Given the description of an element on the screen output the (x, y) to click on. 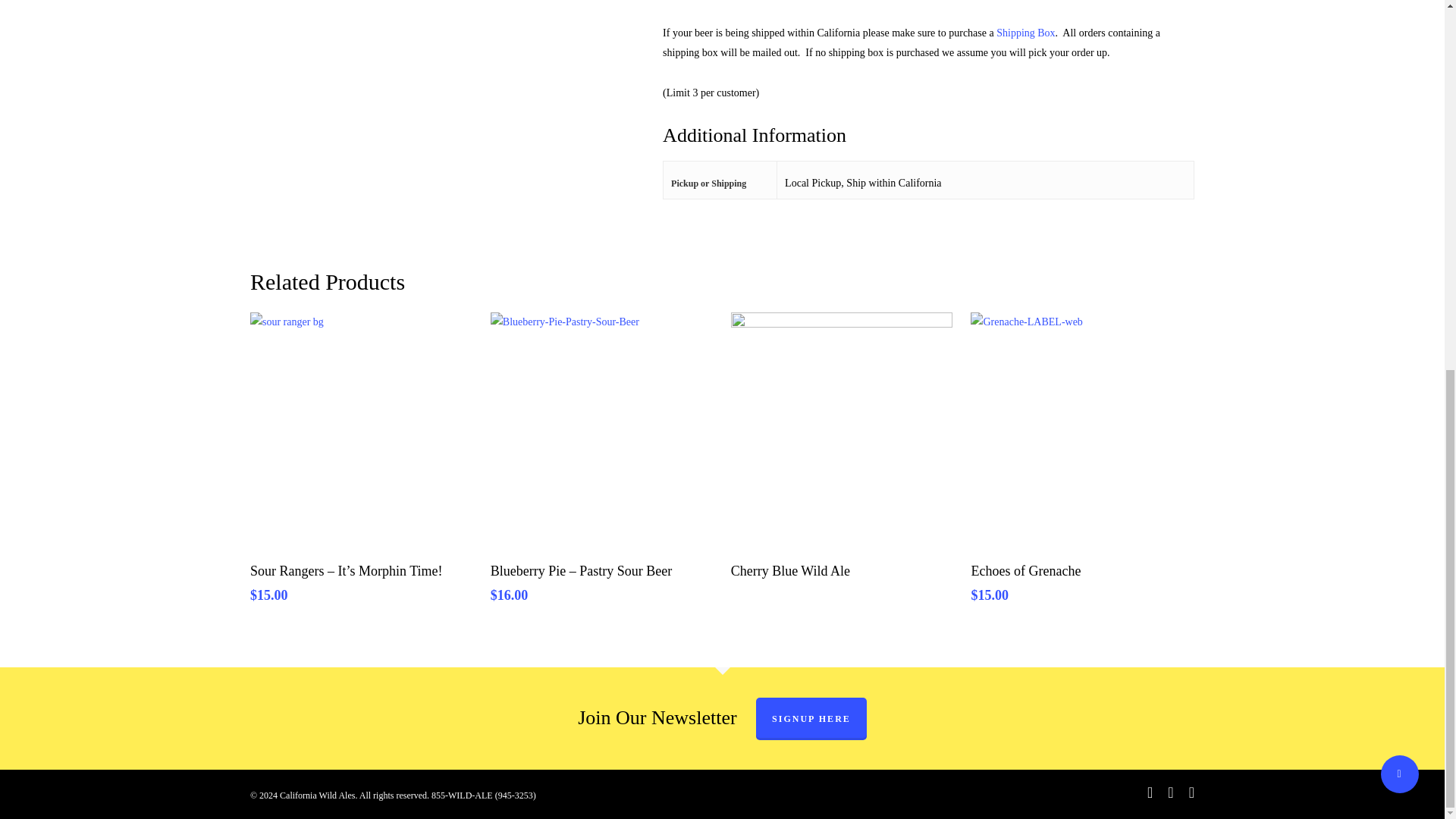
Shipping Box (1024, 32)
